Given the description of an element on the screen output the (x, y) to click on. 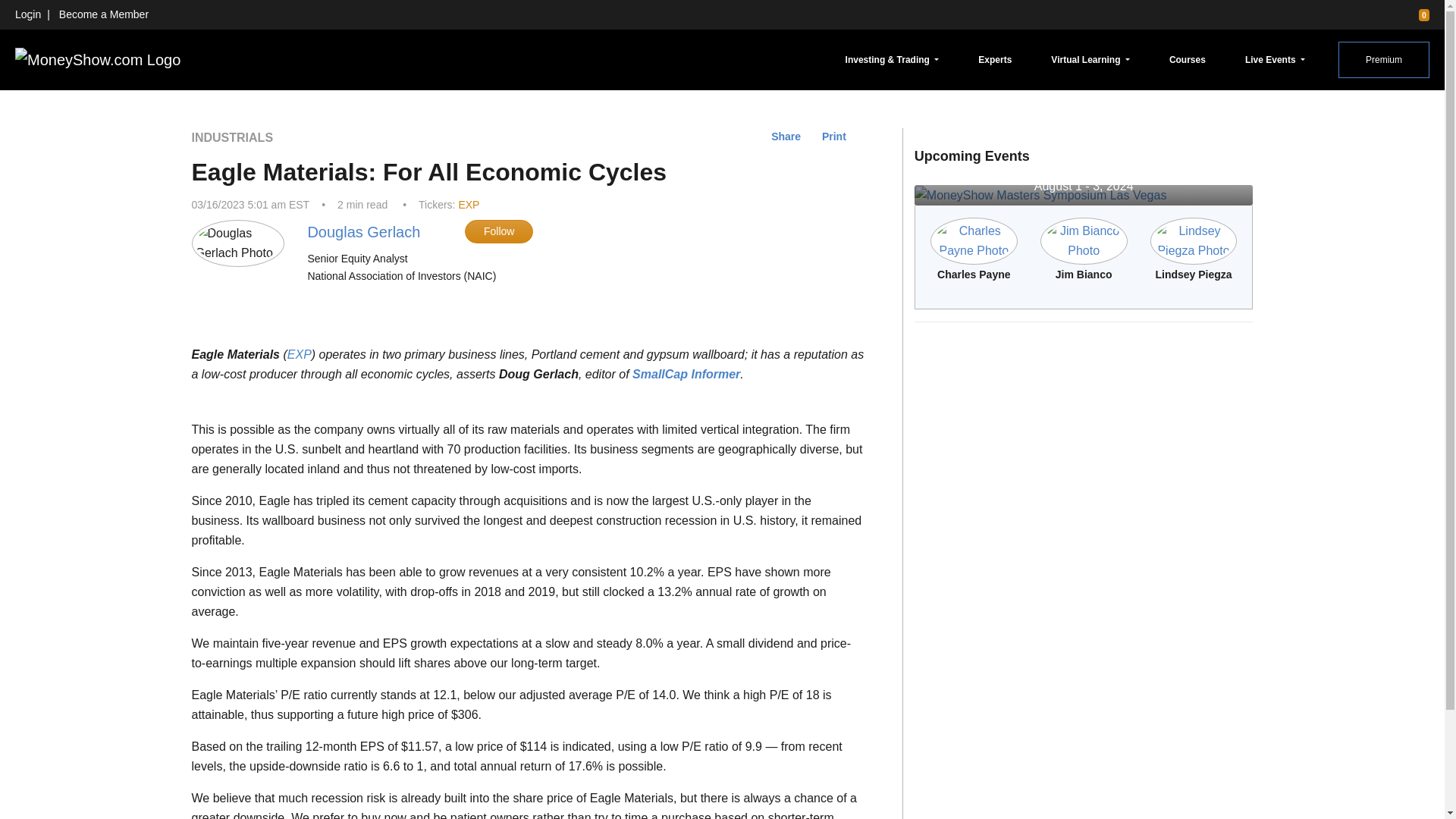
Print (833, 136)
Live Events (1275, 59)
Experts (994, 59)
Douglas Gerlach (363, 232)
You must login to follow our experts. (498, 231)
Become a Member (103, 14)
EXP (468, 204)
0 (1416, 14)
Login (27, 14)
Virtual Learning (1090, 59)
Courses (1187, 59)
Premium (1383, 59)
Share (785, 136)
